Given the description of an element on the screen output the (x, y) to click on. 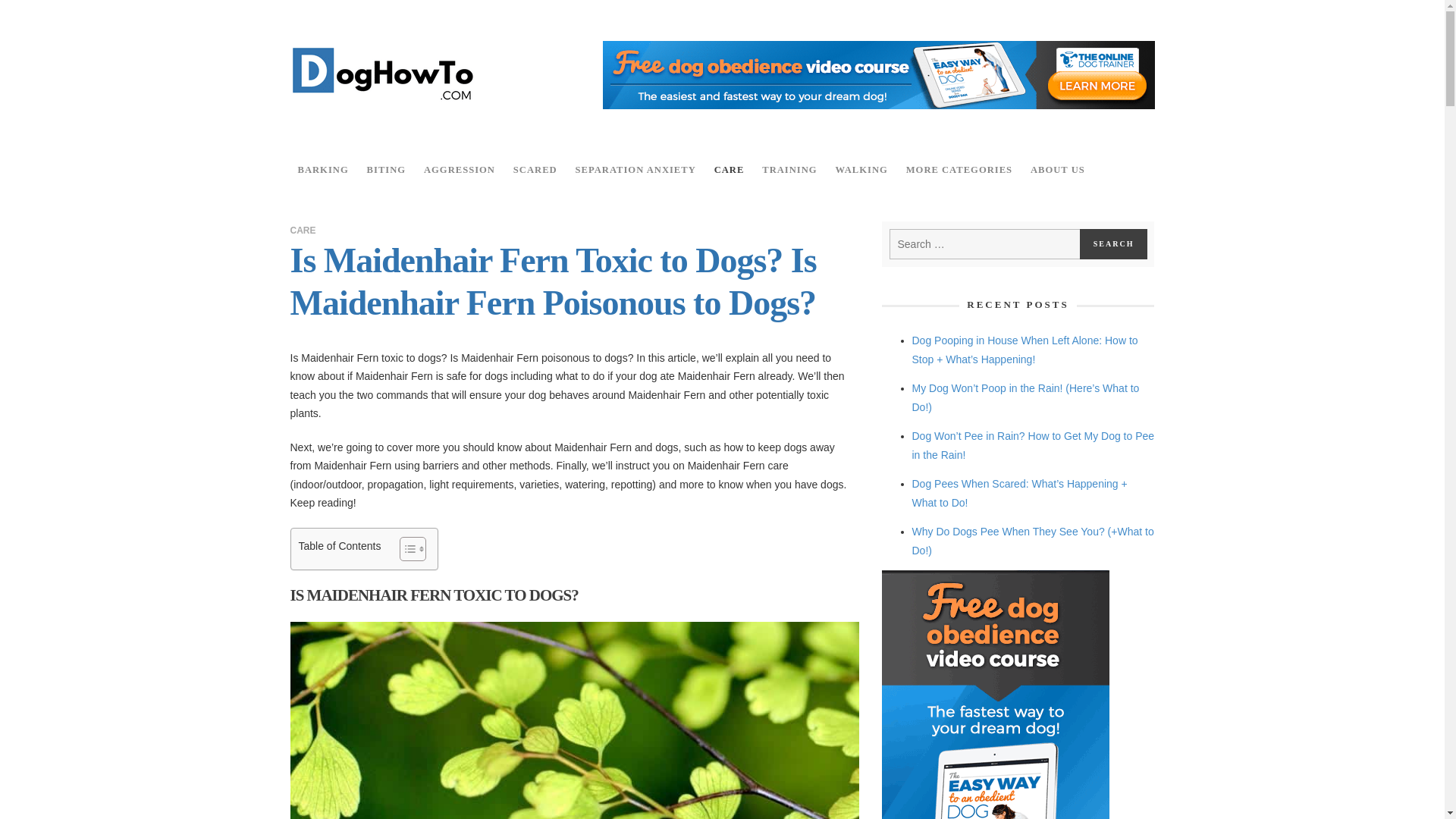
WALKING (861, 169)
MORE CATEGORIES (959, 169)
SEPARATION ANXIETY (635, 169)
TRAINING (789, 169)
Search (1114, 244)
Search (1114, 244)
AGGRESSION (459, 169)
BITING (386, 169)
BARKING (322, 169)
CARE (729, 169)
SCARED (534, 169)
